Given the description of an element on the screen output the (x, y) to click on. 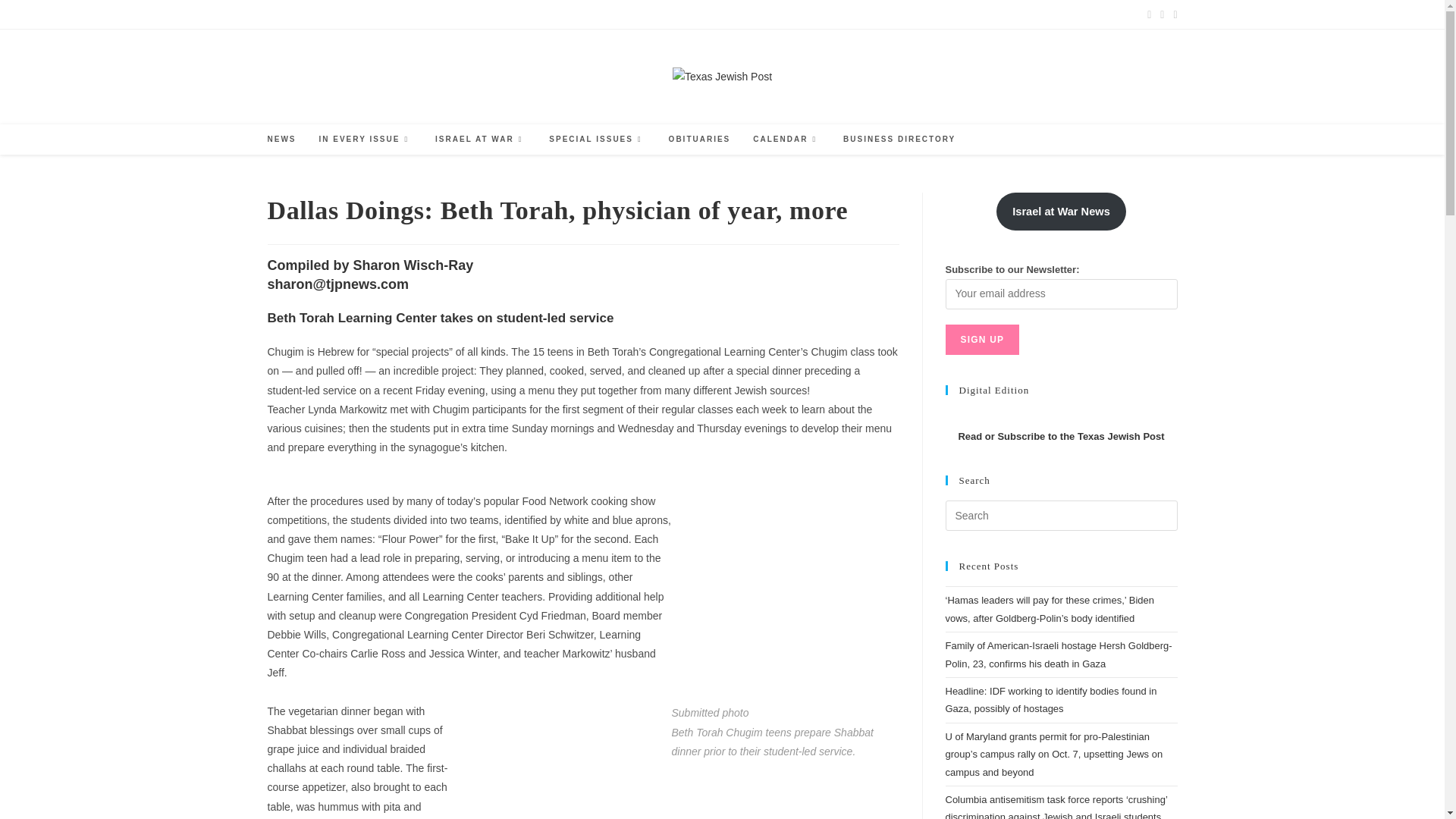
OBITUARIES (700, 139)
NEWS (281, 139)
About Us (473, 13)
Advertise (285, 13)
Newsletter (586, 13)
Sign up (981, 339)
Synagogues (527, 13)
IN EVERY ISSUE (366, 139)
CALENDAR (786, 139)
BUSINESS DIRECTORY (898, 139)
